Given the description of an element on the screen output the (x, y) to click on. 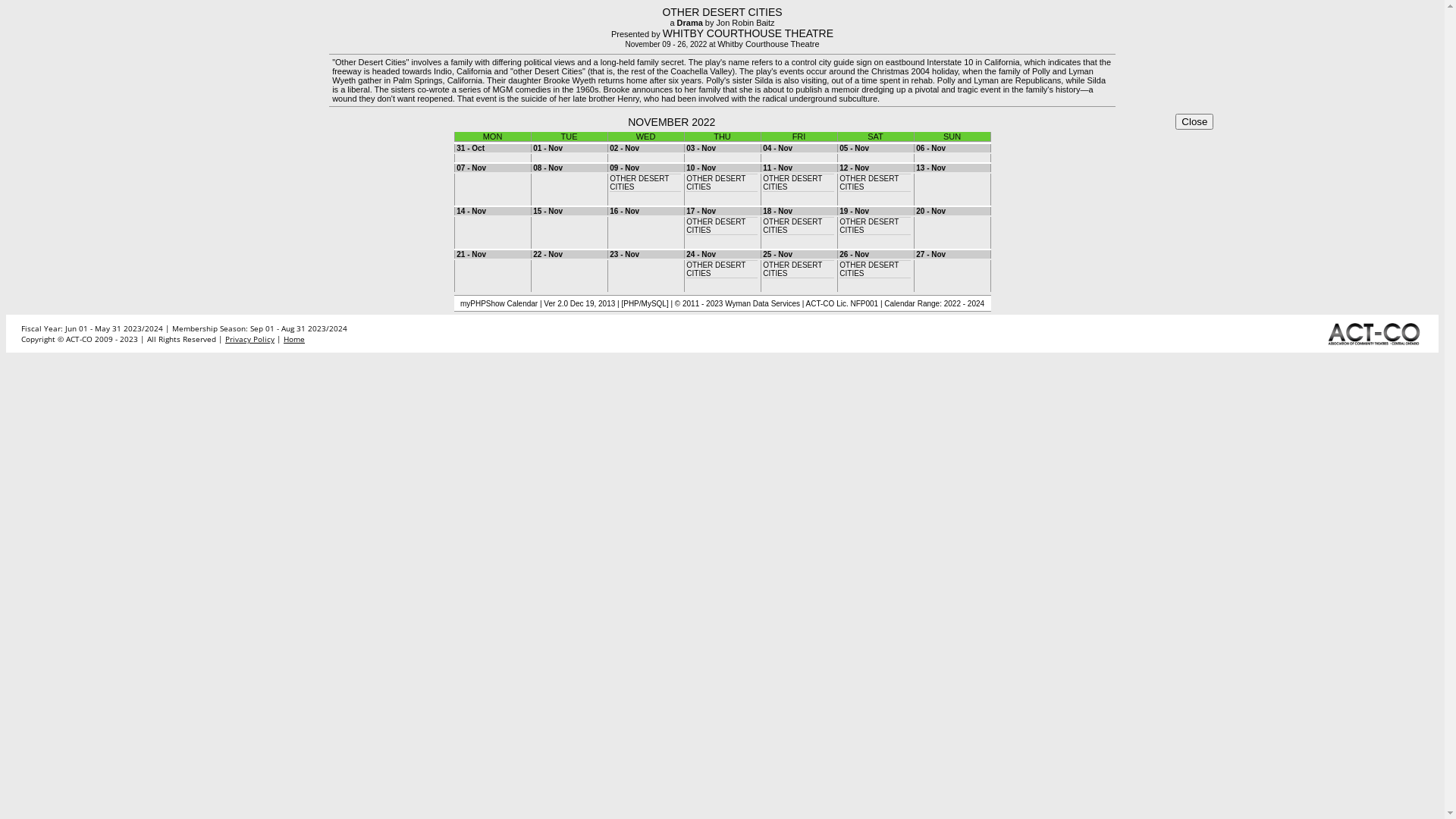
Close Element type: text (1194, 121)
Home Element type: text (293, 338)
Privacy Policy Element type: text (249, 338)
